Given the description of an element on the screen output the (x, y) to click on. 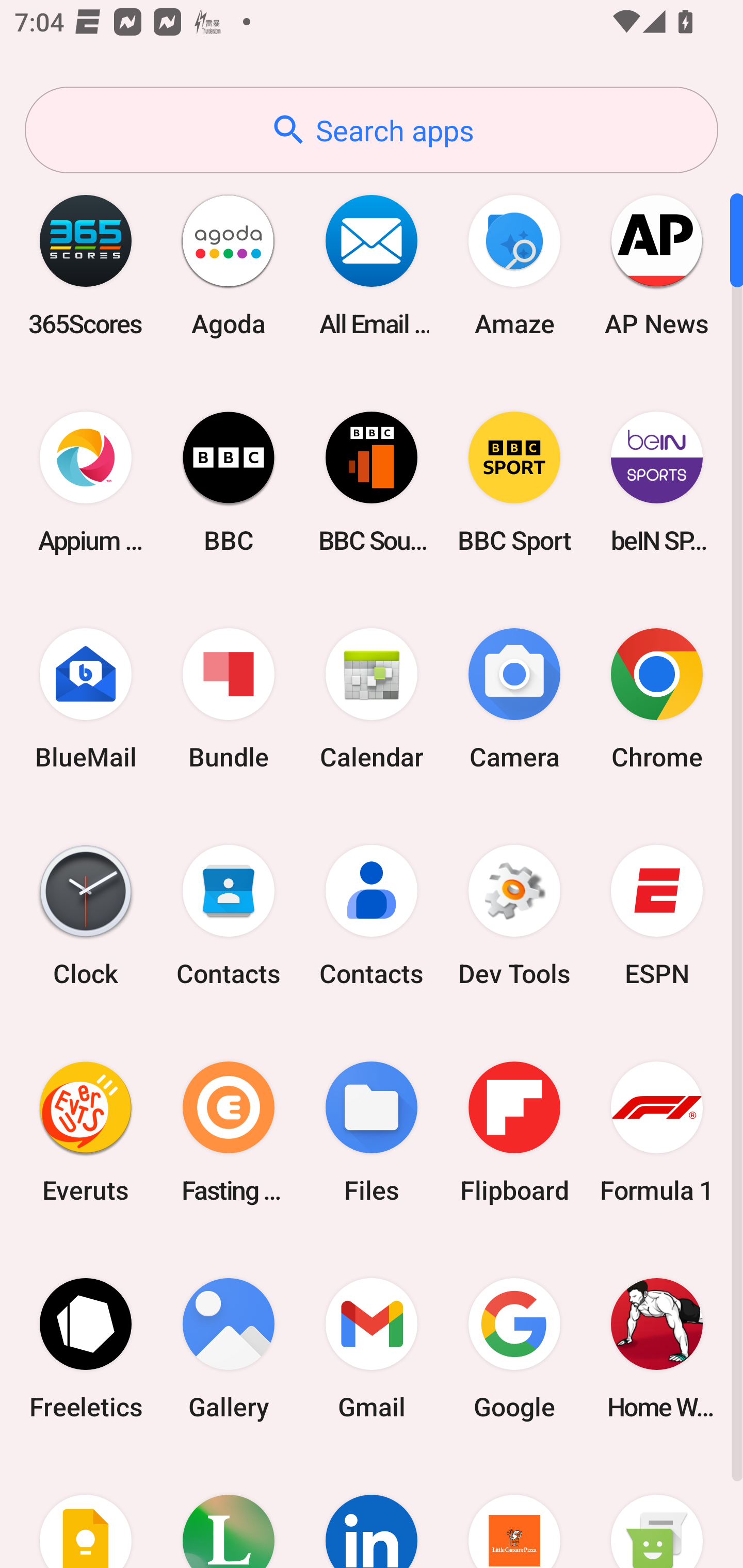
  Search apps (371, 130)
365Scores (85, 264)
Agoda (228, 264)
All Email Connect (371, 264)
Amaze (514, 264)
AP News (656, 264)
Appium Settings (85, 482)
BBC (228, 482)
BBC Sounds (371, 482)
BBC Sport (514, 482)
beIN SPORTS (656, 482)
BlueMail (85, 699)
Bundle (228, 699)
Calendar (371, 699)
Camera (514, 699)
Chrome (656, 699)
Clock (85, 915)
Contacts (228, 915)
Contacts (371, 915)
Dev Tools (514, 915)
ESPN (656, 915)
Everuts (85, 1131)
Fasting Coach (228, 1131)
Files (371, 1131)
Flipboard (514, 1131)
Formula 1 (656, 1131)
Freeletics (85, 1348)
Gallery (228, 1348)
Gmail (371, 1348)
Google (514, 1348)
Home Workout (656, 1348)
Keep Notes (85, 1512)
Lifesum (228, 1512)
LinkedIn (371, 1512)
Little Caesars Pizza (514, 1512)
Messaging (656, 1512)
